Given the description of an element on the screen output the (x, y) to click on. 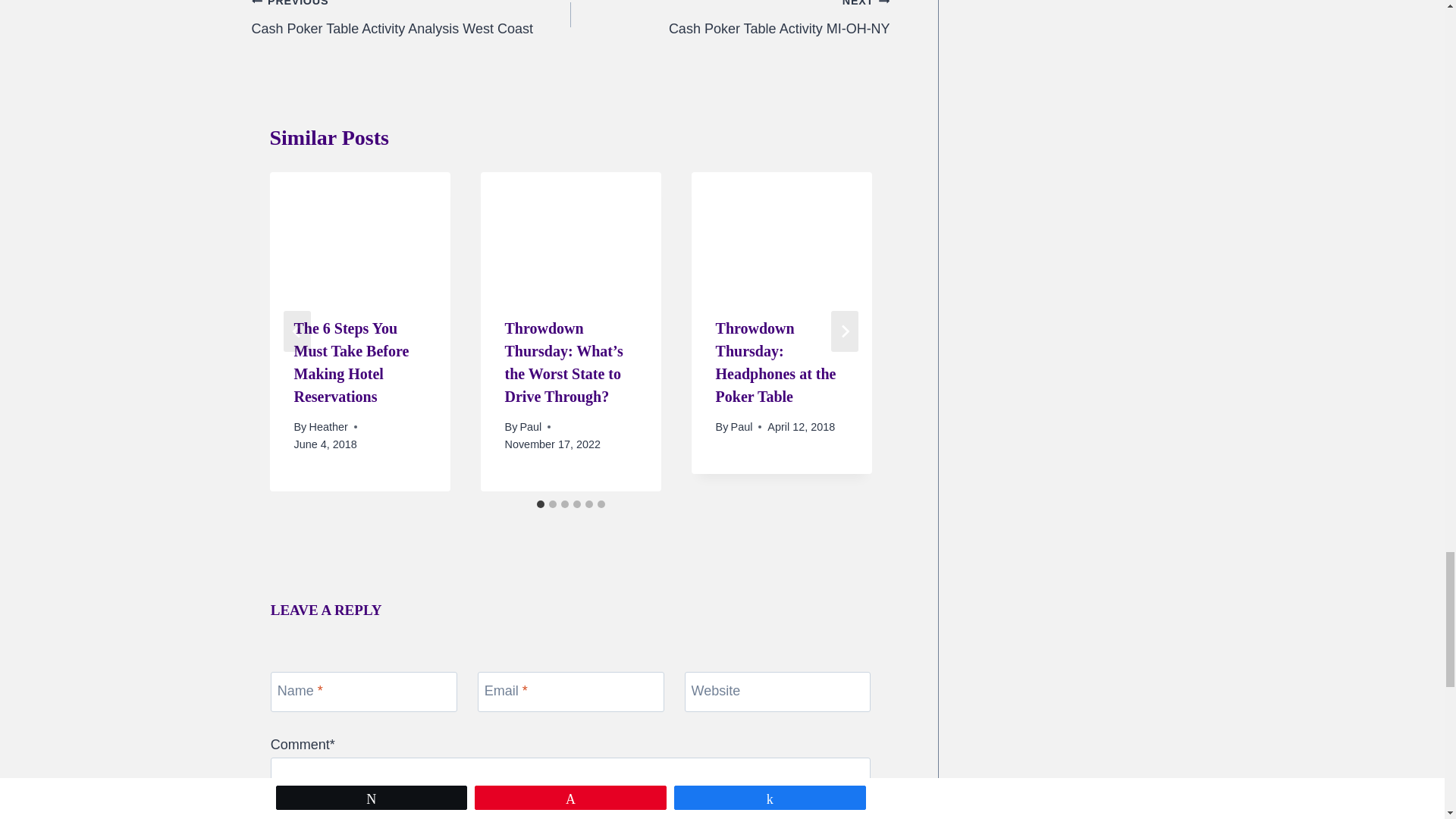
Heather (729, 20)
The 6 Steps You Must Take Before Making Hotel Reservations (327, 426)
